Given the description of an element on the screen output the (x, y) to click on. 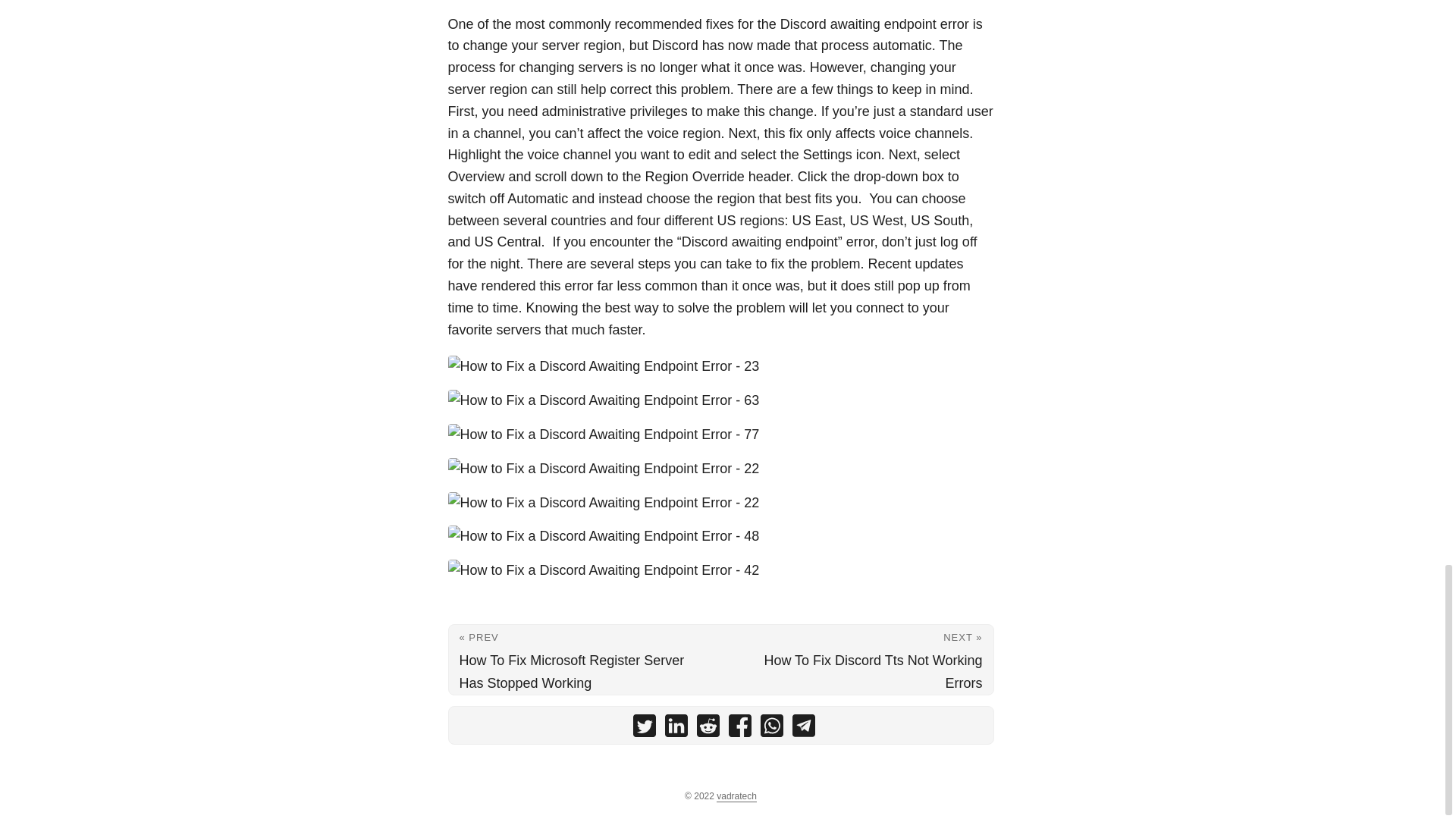
vadratech (736, 796)
